Given the description of an element on the screen output the (x, y) to click on. 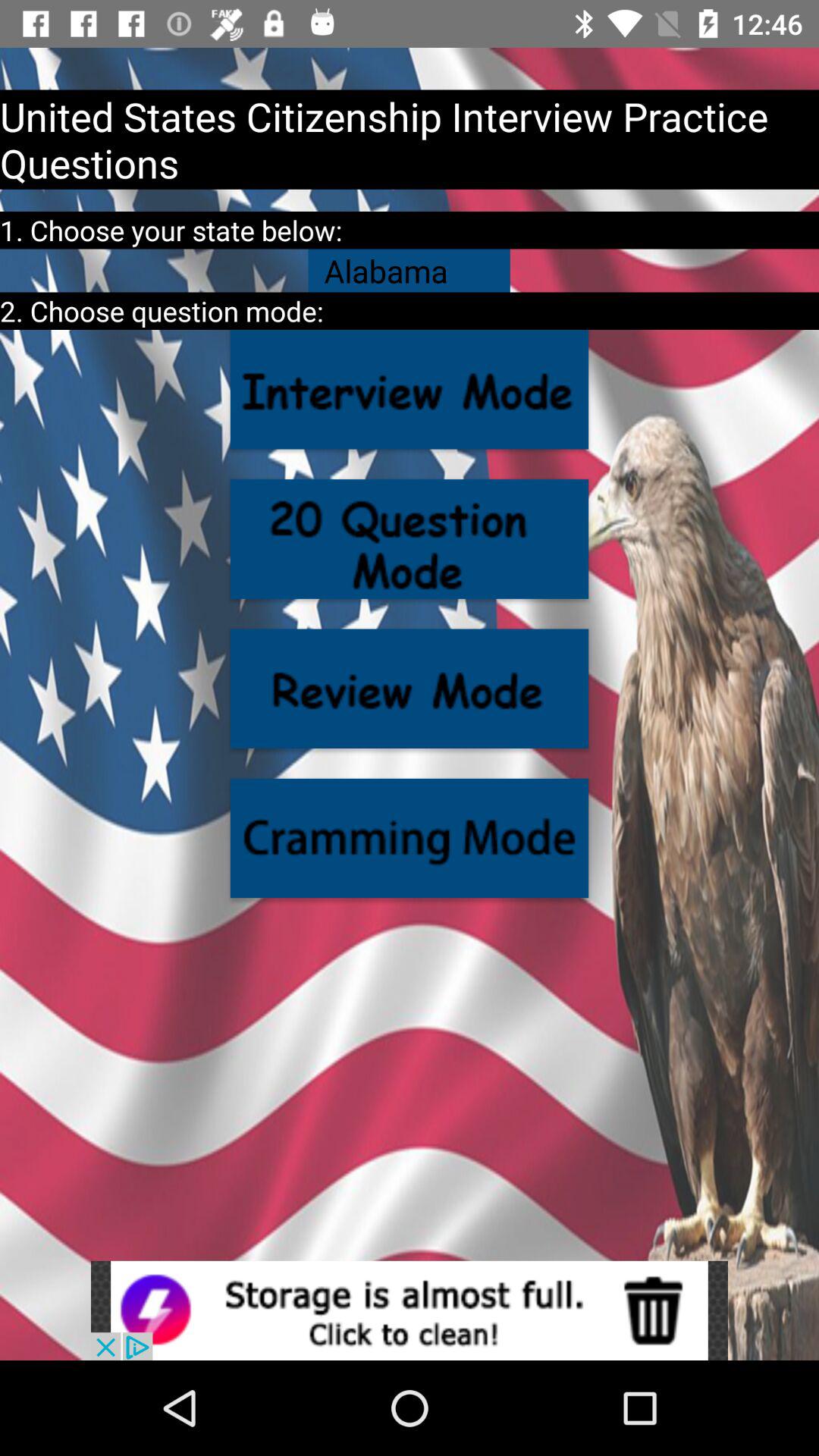
click to review mode (409, 688)
